Given the description of an element on the screen output the (x, y) to click on. 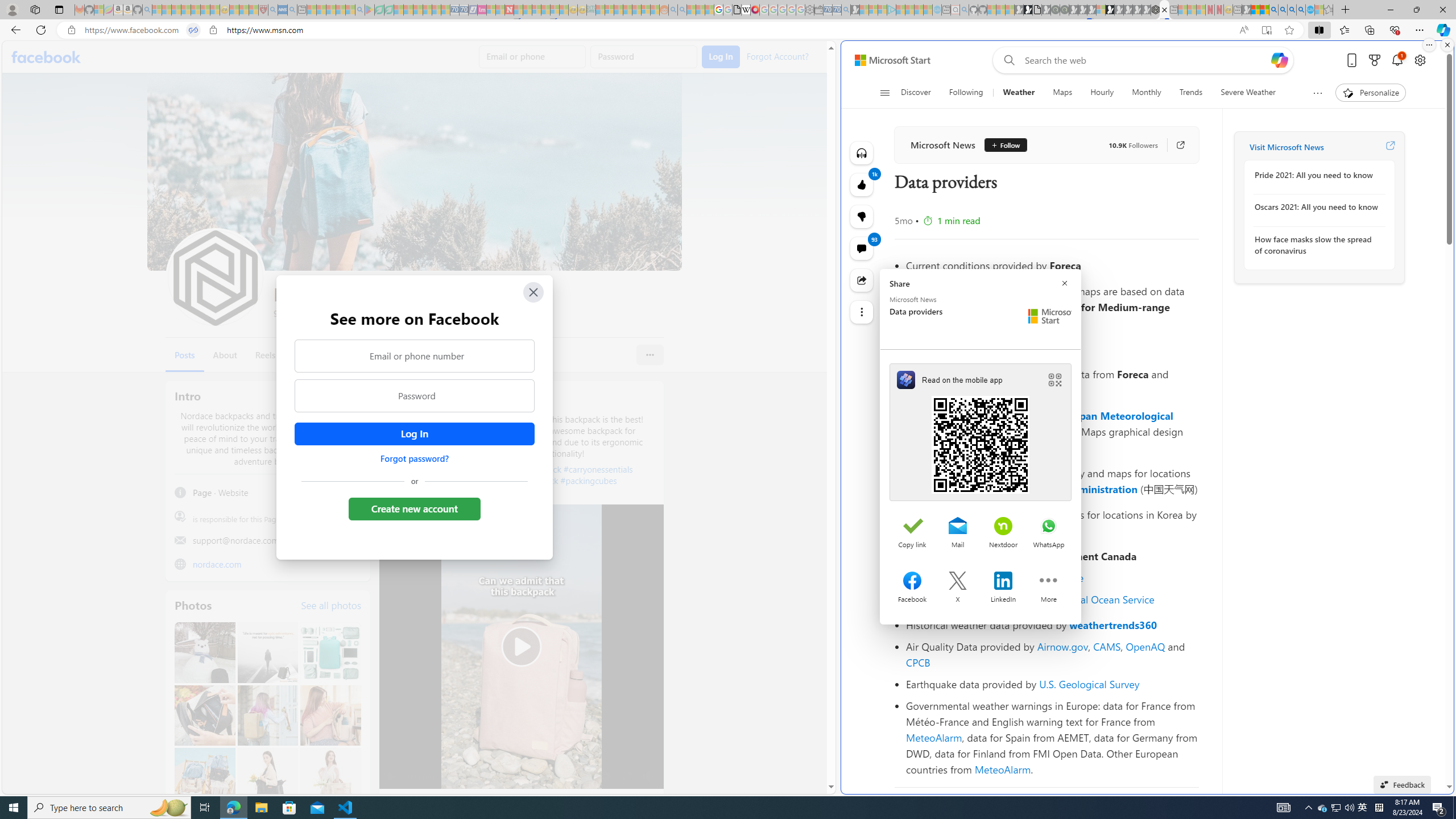
More options. (1428, 45)
Share on facebook (911, 581)
Canadian radar map data by Environment Canada (1051, 555)
Japan Meteorological Agency (1039, 423)
Bluey: Let's Play! - Apps on Google Play - Sleeping (369, 9)
Sign in to your account - Sleeping (1100, 9)
Open navigation menu (884, 92)
1k Like (861, 184)
Settings - Sleeping (809, 9)
MSNBC - MSN - Sleeping (600, 9)
Severe Weather (1247, 92)
U.S. Geological Survey (1089, 684)
Maps (1062, 92)
